Given the description of an element on the screen output the (x, y) to click on. 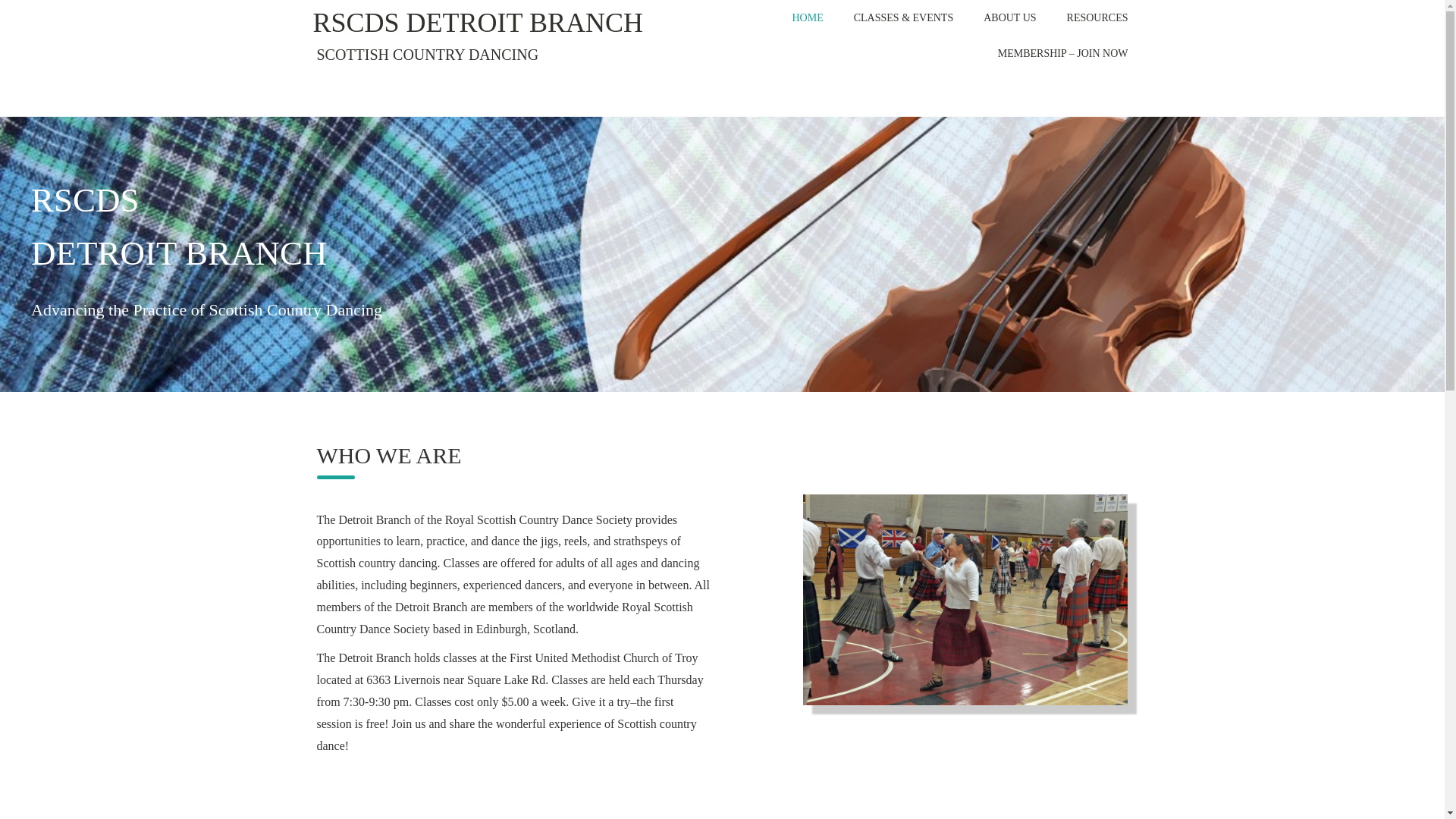
ABOUT US (1009, 18)
RSCDS DETROIT BRANCH (477, 23)
HOME (807, 18)
RESOURCES (1096, 18)
